Given the description of an element on the screen output the (x, y) to click on. 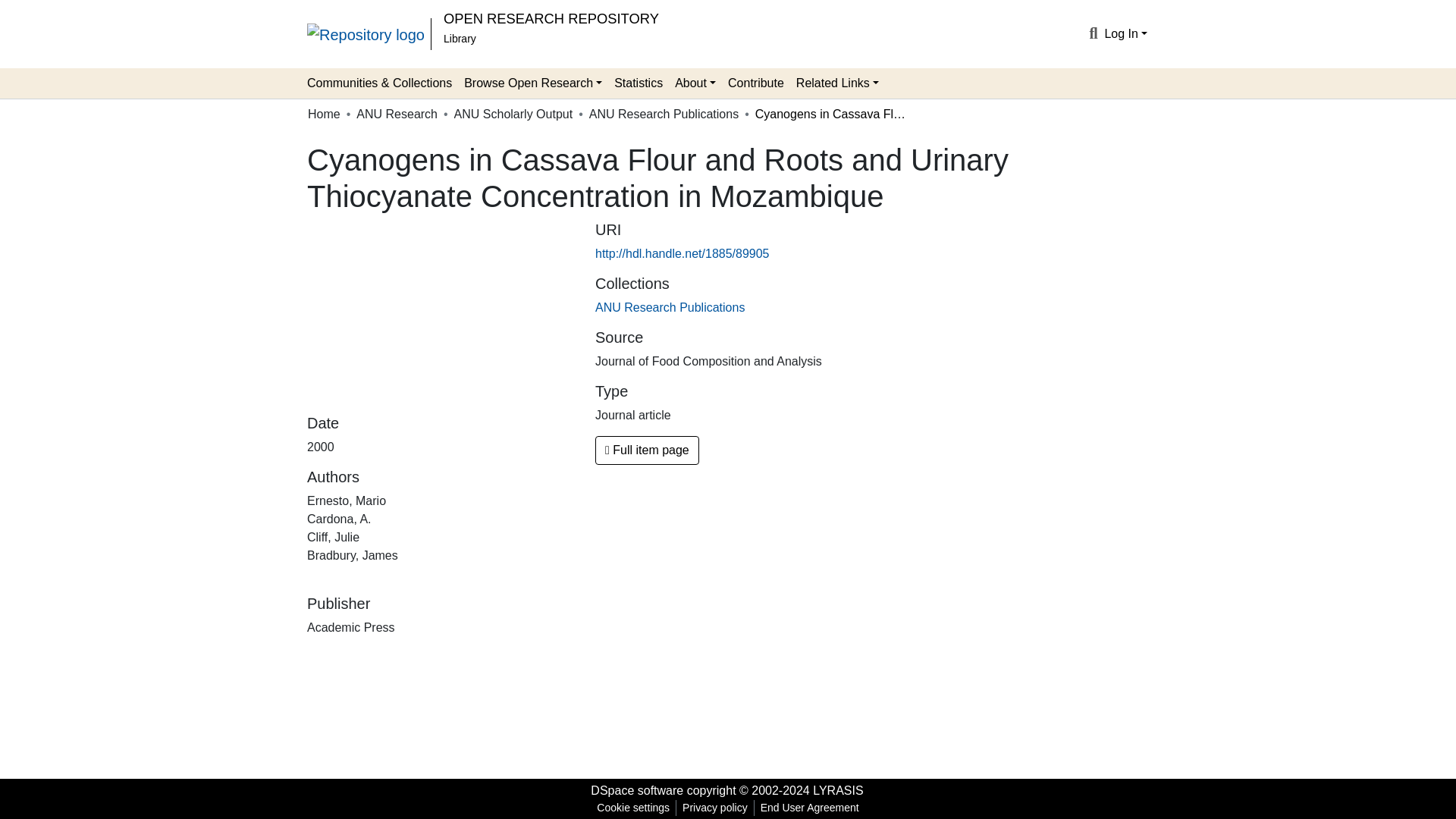
ANU Scholarly Output (513, 114)
DSpace software (636, 789)
ANU Research Publications (663, 114)
End User Agreement (809, 807)
Privacy policy (715, 807)
Cookie settings (633, 807)
Contribute (756, 82)
About (695, 82)
OPEN RESEARCH REPOSITORY (551, 18)
Statistics (638, 82)
